Given the description of an element on the screen output the (x, y) to click on. 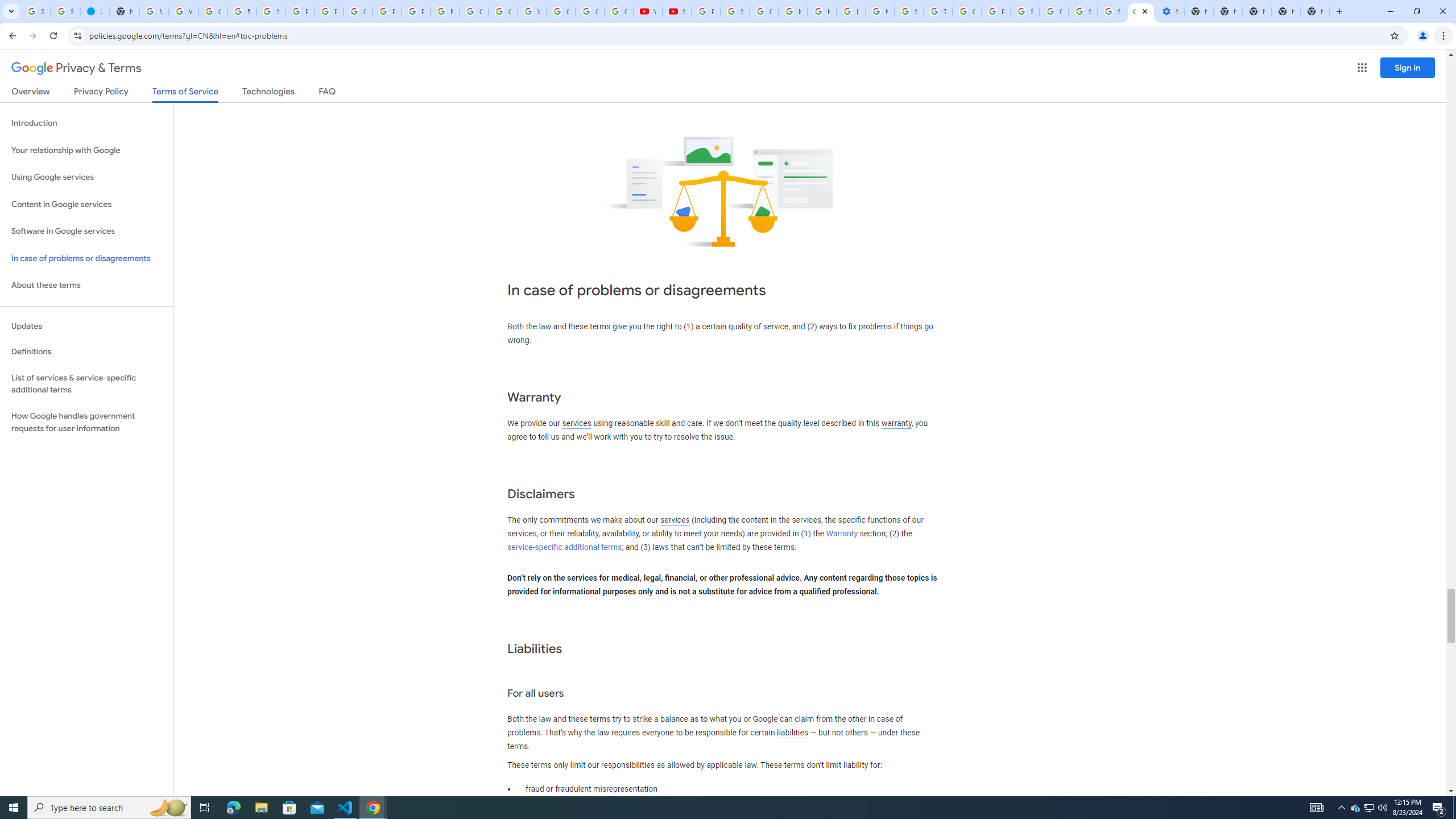
Create your Google Account (357, 11)
Sign in - Google Accounts (1082, 11)
services (674, 520)
Sign in - Google Accounts (1111, 11)
Trusted Information and Content - Google Safety Center (938, 11)
USA TODAY (95, 11)
Welcome to My Activity (531, 11)
Your relationship with Google (86, 150)
